Given the description of an element on the screen output the (x, y) to click on. 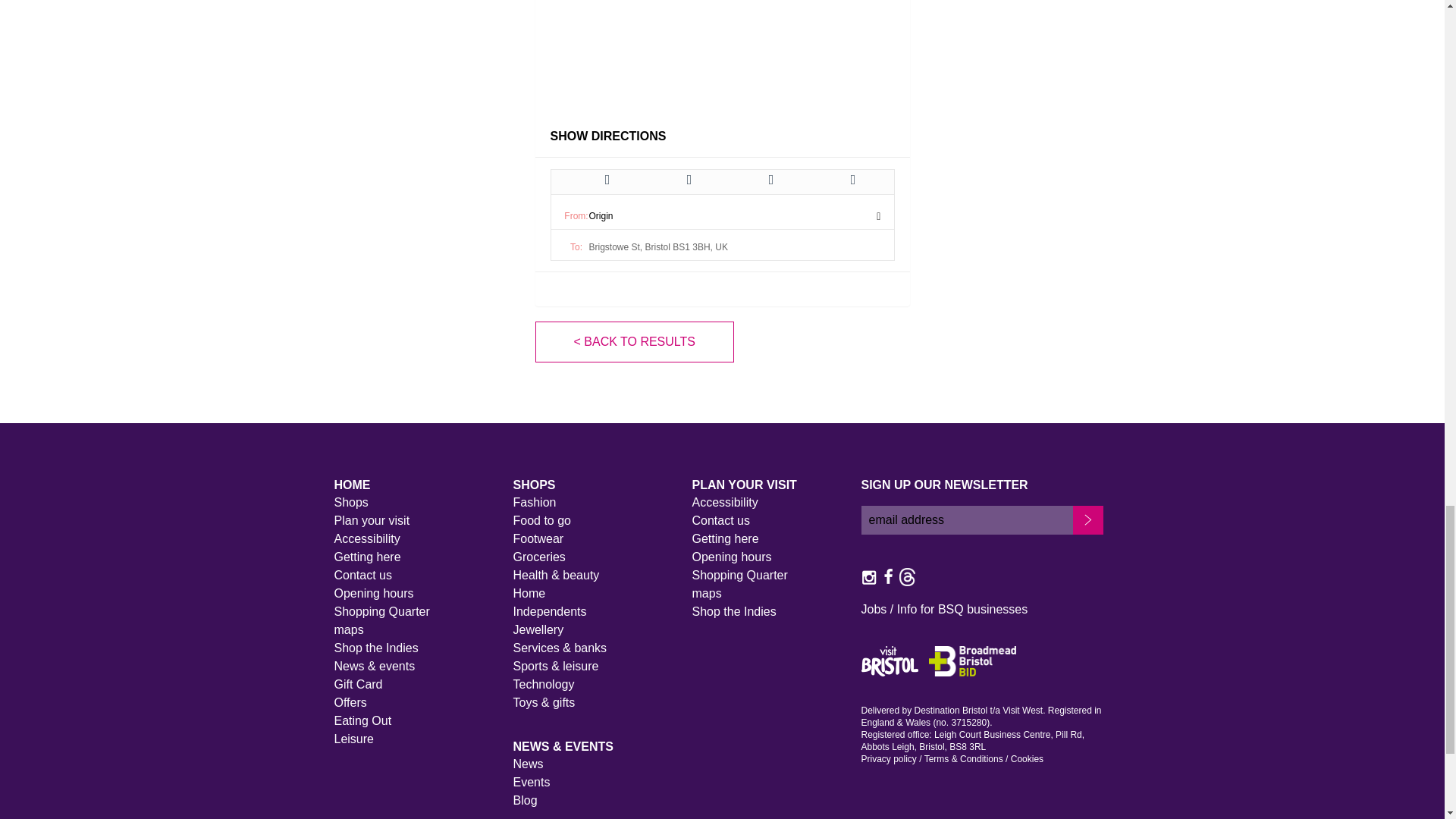
Bicycling (770, 179)
Transit (852, 179)
Walking (688, 179)
Driving (605, 179)
